Given the description of an element on the screen output the (x, y) to click on. 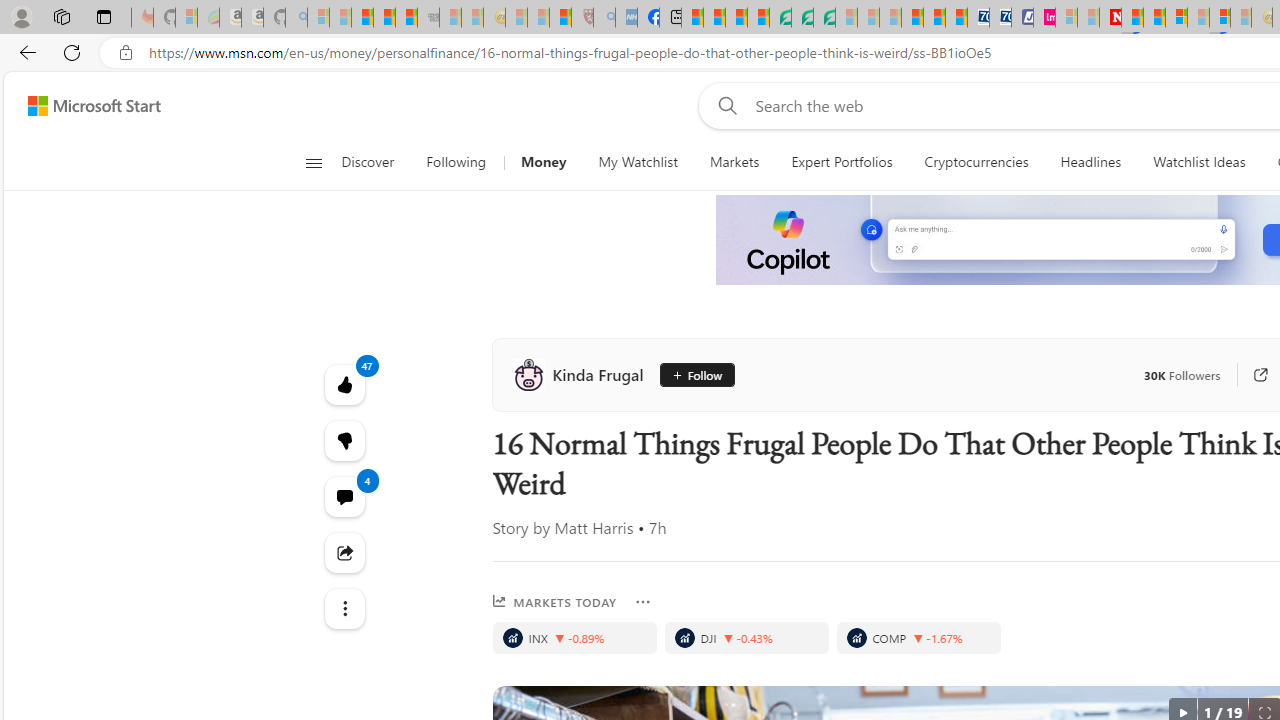
Cryptocurrencies (976, 162)
Local - MSN (560, 17)
Watchlist Ideas (1199, 162)
Headlines (1090, 162)
Watchlist Ideas (1199, 162)
LendingTree - Compare Lenders (780, 17)
More Options (642, 601)
Microsoft Word - consumer-privacy address update 2.2021 (824, 17)
